Given the description of an element on the screen output the (x, y) to click on. 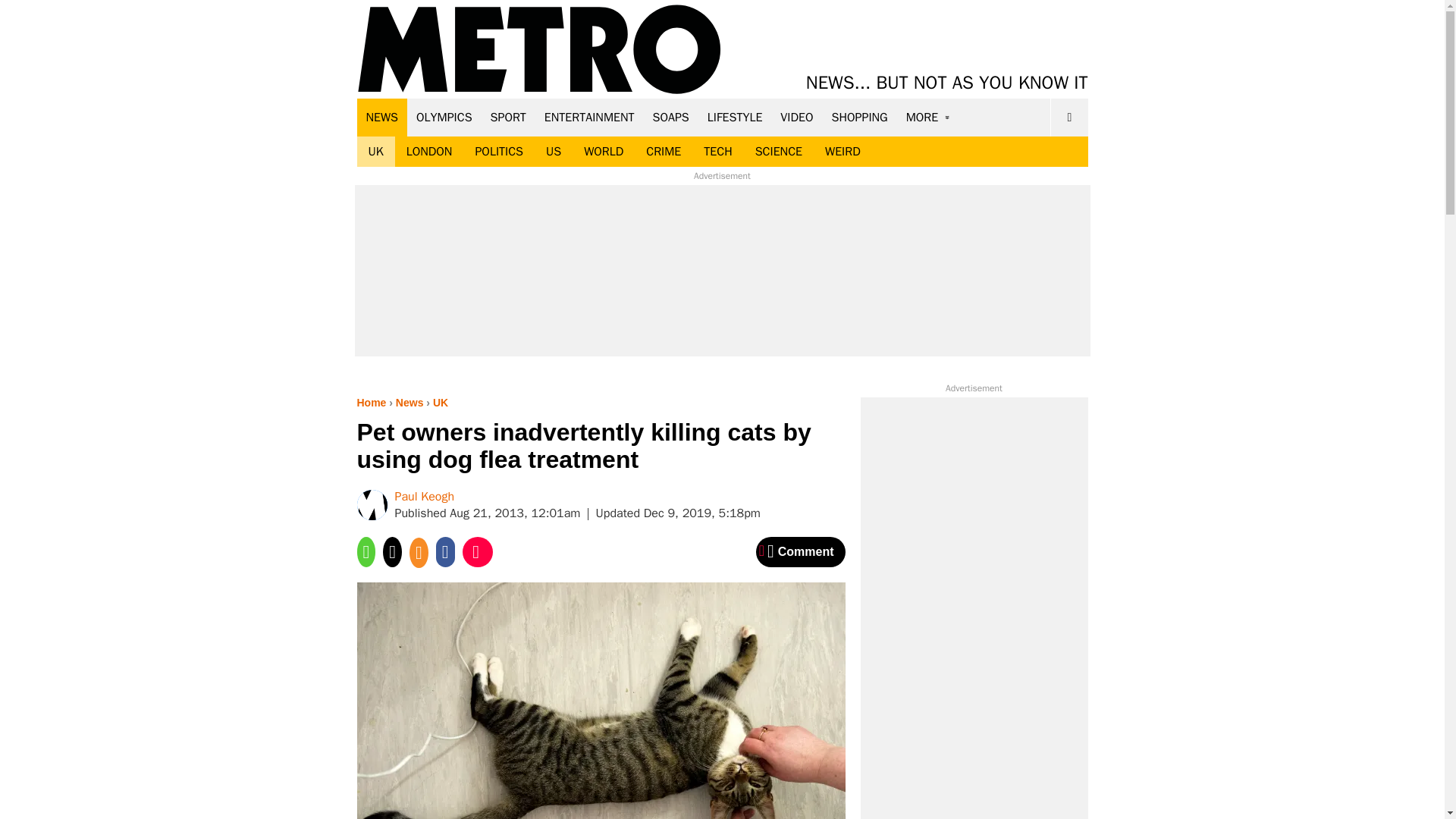
US (553, 151)
SOAPS (670, 117)
WORLD (603, 151)
LIFESTYLE (734, 117)
OLYMPICS (444, 117)
CRIME (663, 151)
LONDON (429, 151)
Metro (539, 50)
POLITICS (498, 151)
ENTERTAINMENT (589, 117)
